Given the description of an element on the screen output the (x, y) to click on. 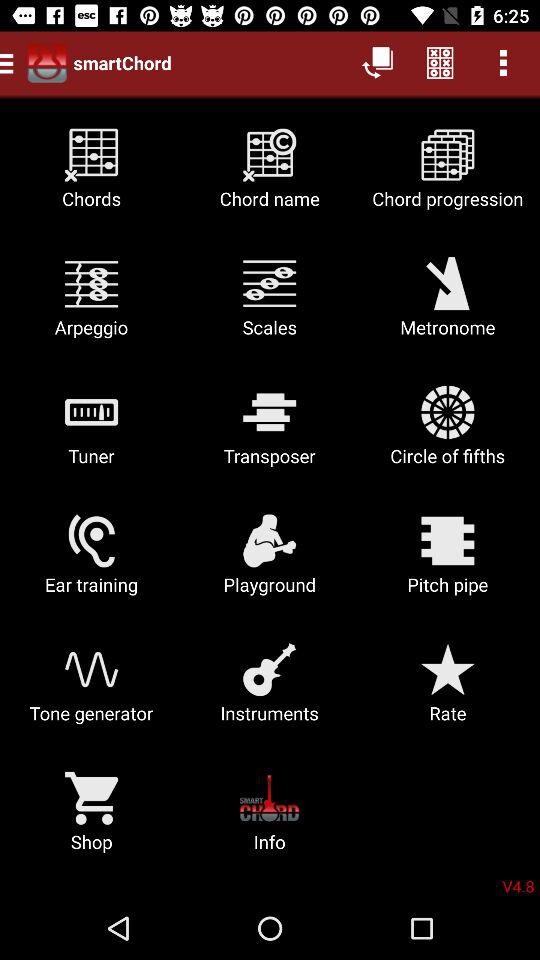
launch the tone generator icon (91, 689)
